Given the description of an element on the screen output the (x, y) to click on. 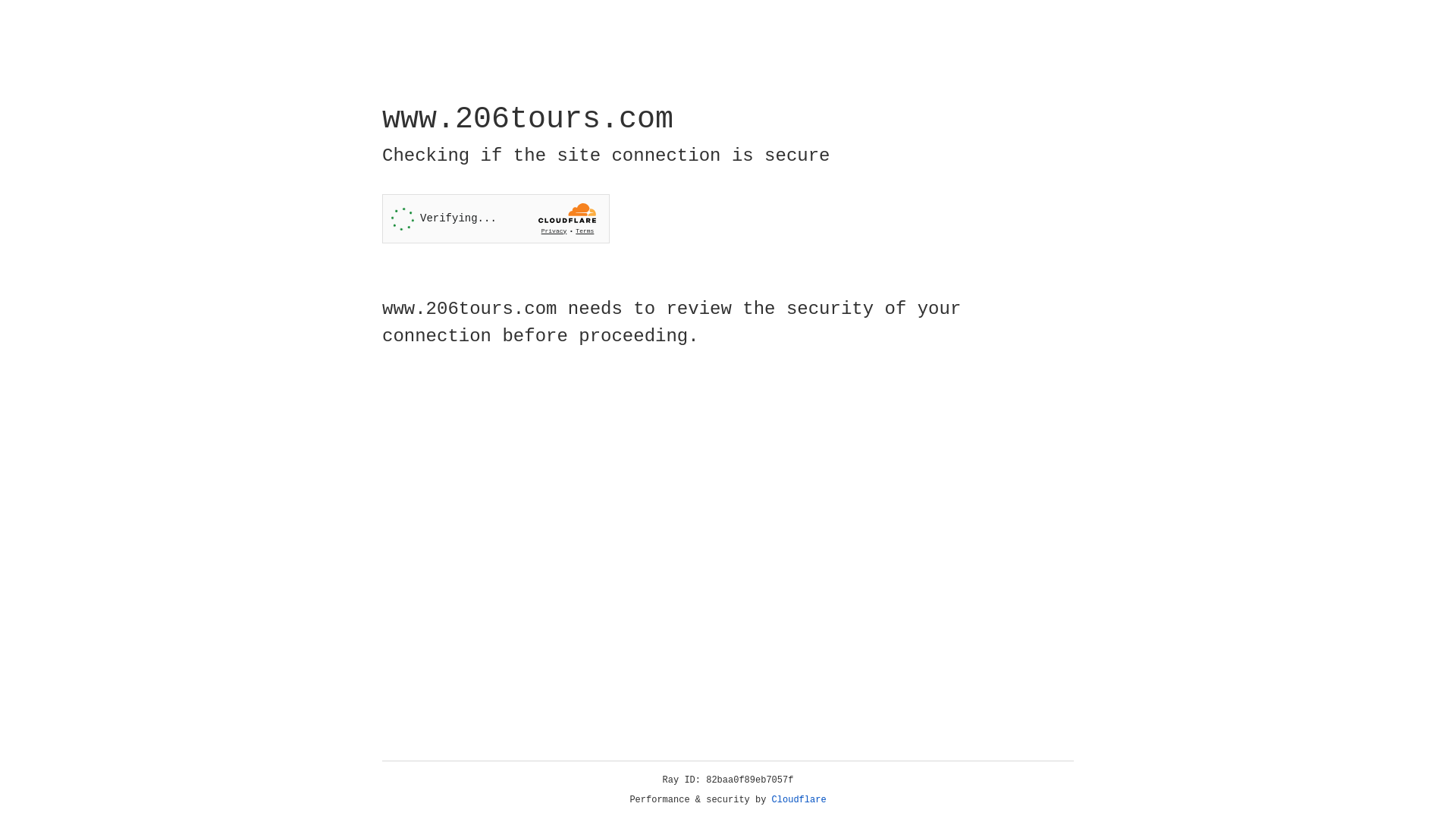
Widget containing a Cloudflare security challenge Element type: hover (495, 218)
Cloudflare Element type: text (798, 799)
